Given the description of an element on the screen output the (x, y) to click on. 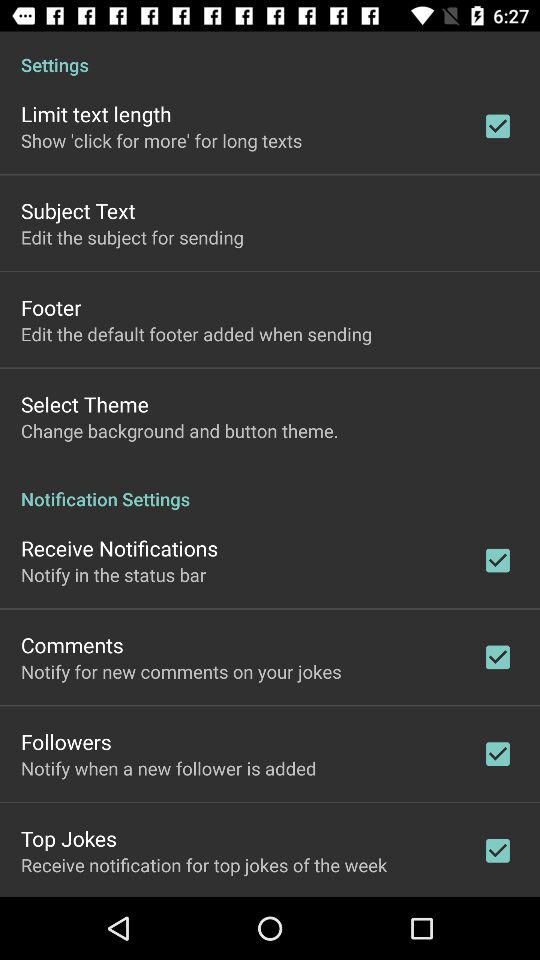
turn on the subject text app (78, 210)
